Given the description of an element on the screen output the (x, y) to click on. 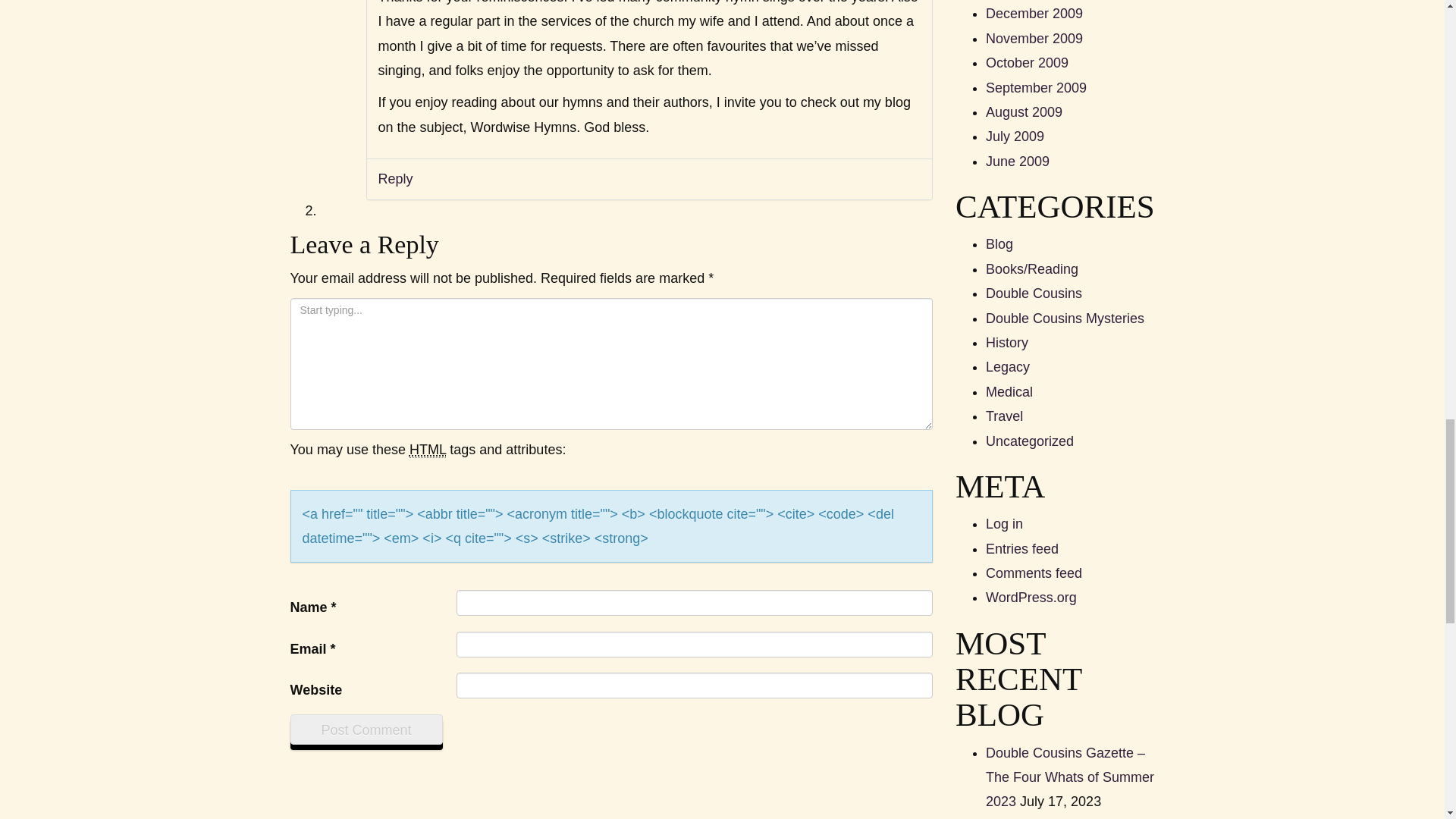
Post Comment (365, 729)
HyperText Markup Language (427, 449)
Post Comment (365, 729)
Reply (394, 178)
